Given the description of an element on the screen output the (x, y) to click on. 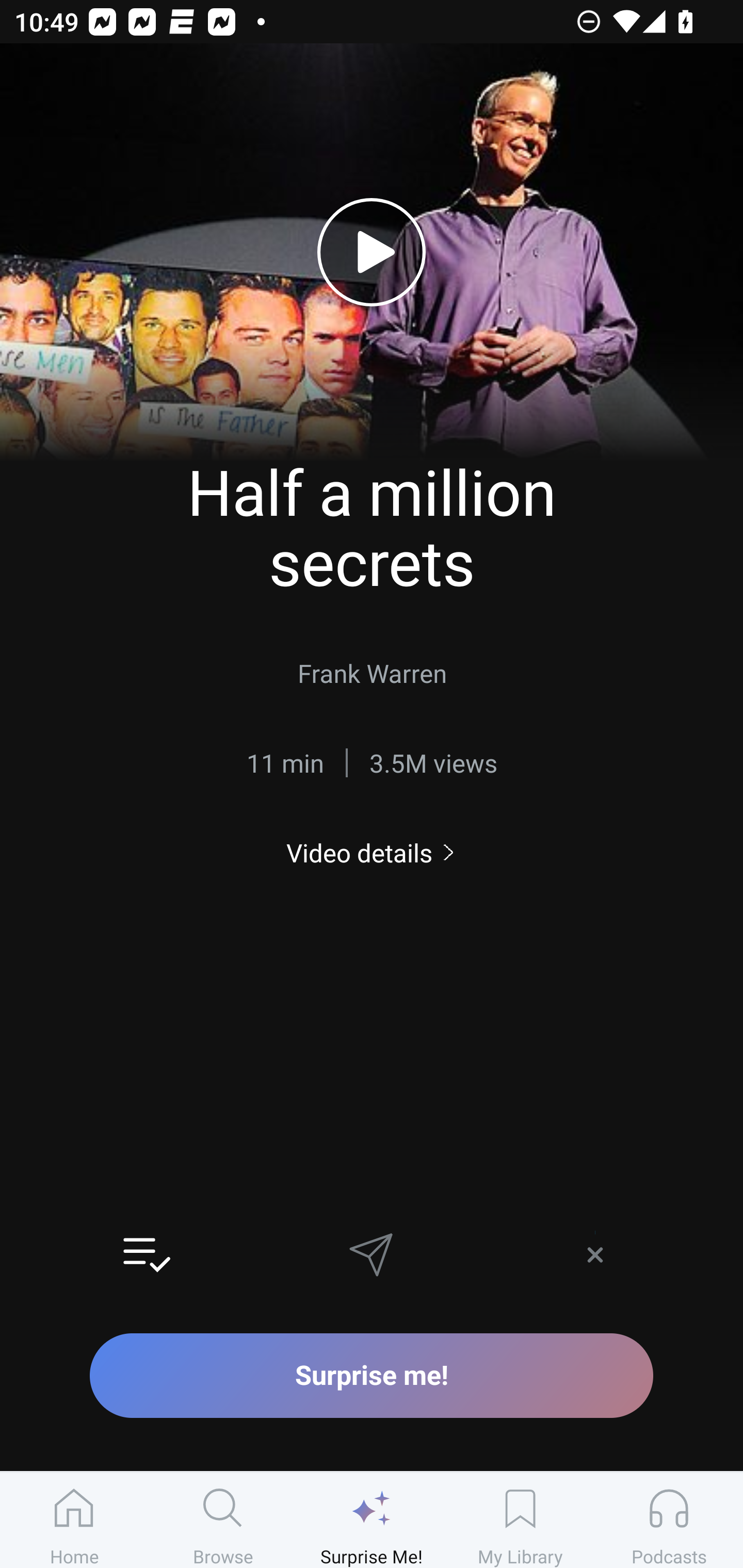
Video details (371, 852)
Surprise me! (371, 1374)
Home (74, 1520)
Browse (222, 1520)
Surprise Me! (371, 1520)
My Library (519, 1520)
Podcasts (668, 1520)
